Given the description of an element on the screen output the (x, y) to click on. 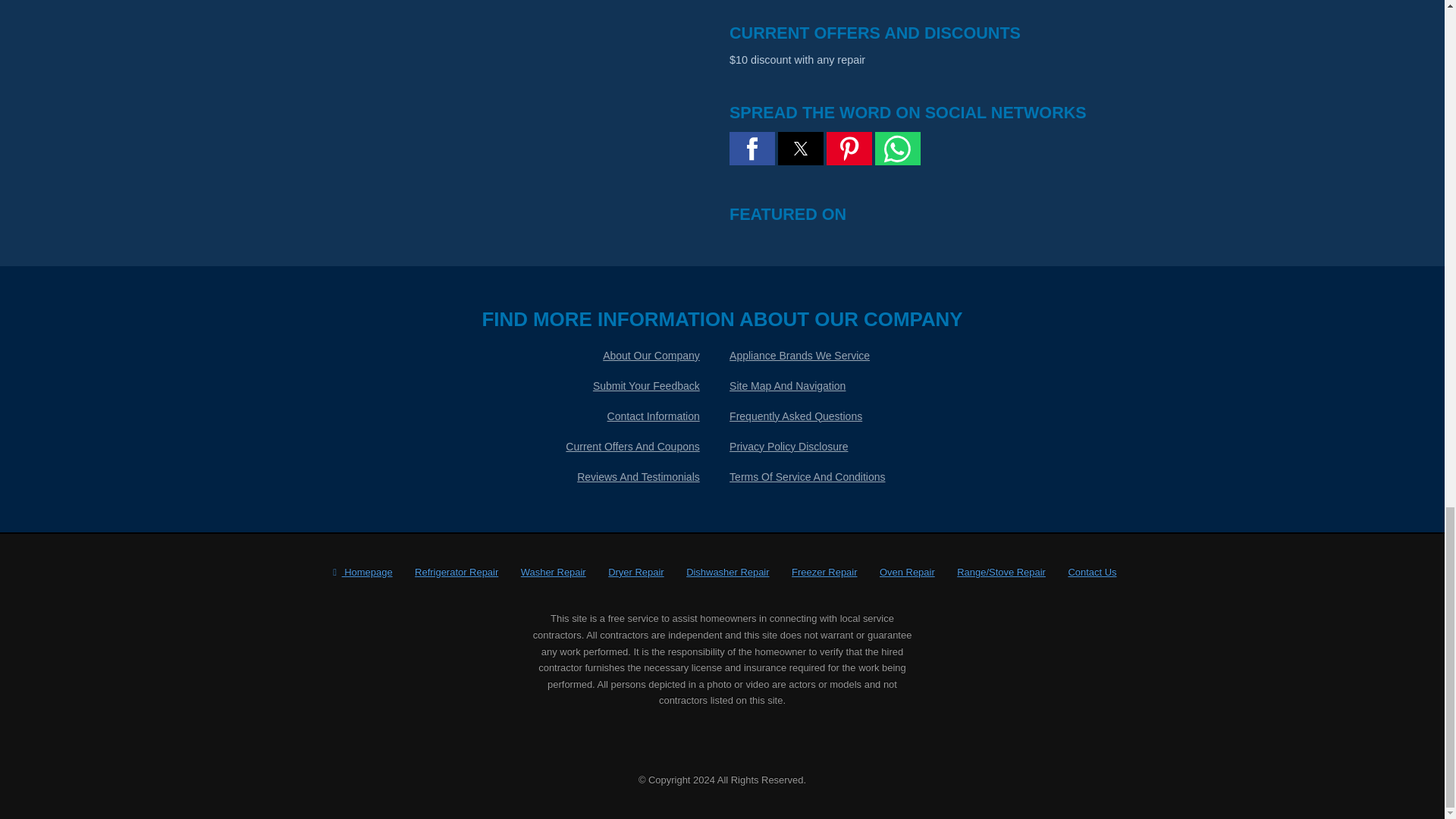
Reviews And Testimonials (638, 476)
Site Map And Navigation (787, 386)
Current Offers And Coupons (632, 446)
About Our Company (651, 355)
Contact Information (653, 416)
Submit Your Feedback (646, 386)
Appliance Brands We Service (799, 355)
